Given the description of an element on the screen output the (x, y) to click on. 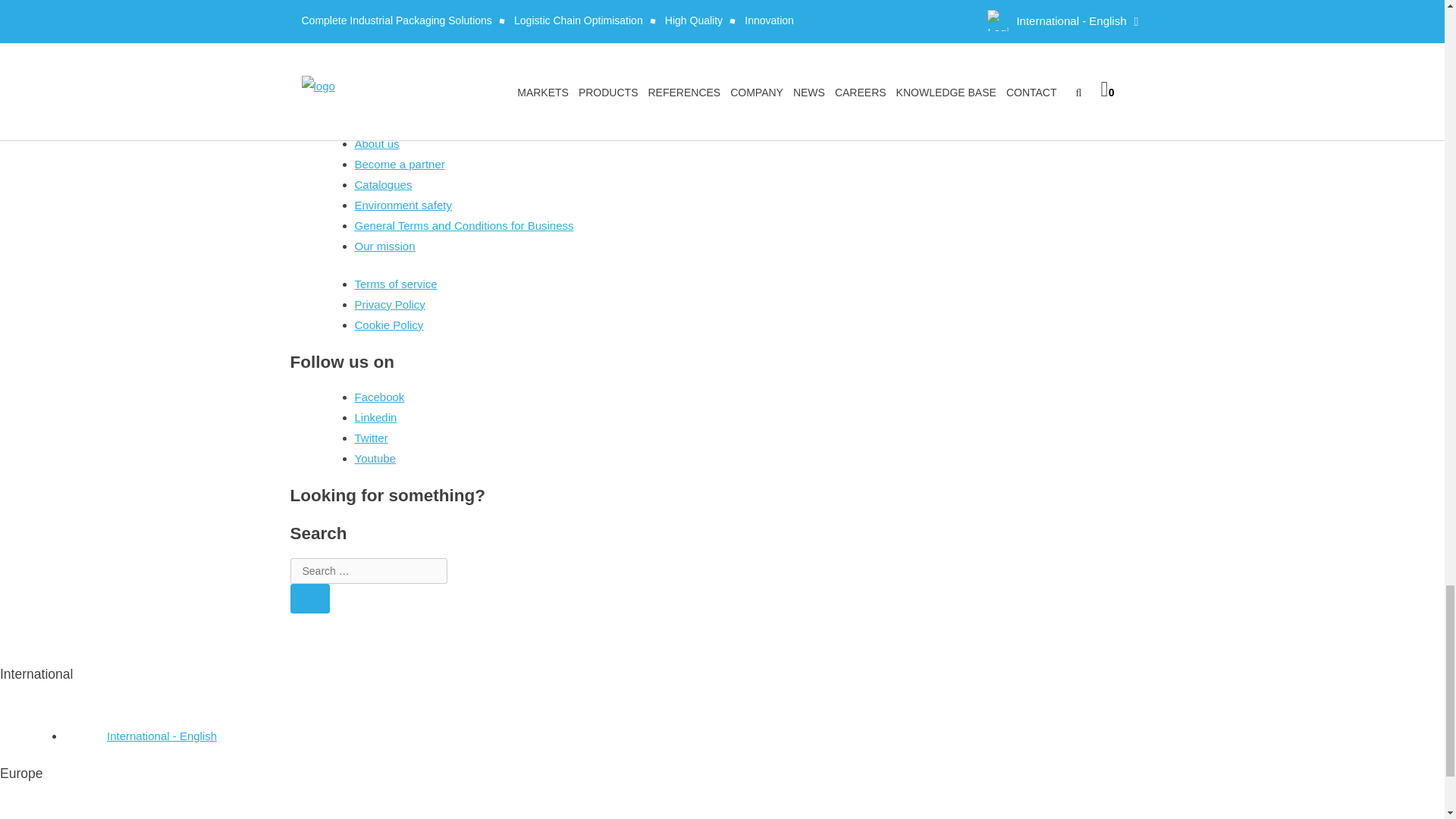
Container finder (395, 51)
Contact (374, 71)
Our mission (384, 245)
Become a partner (400, 164)
About us (376, 143)
General Terms and Conditions for Business (464, 225)
Catalogues (383, 184)
Environment safety (403, 205)
Markets (374, 30)
